Given the description of an element on the screen output the (x, y) to click on. 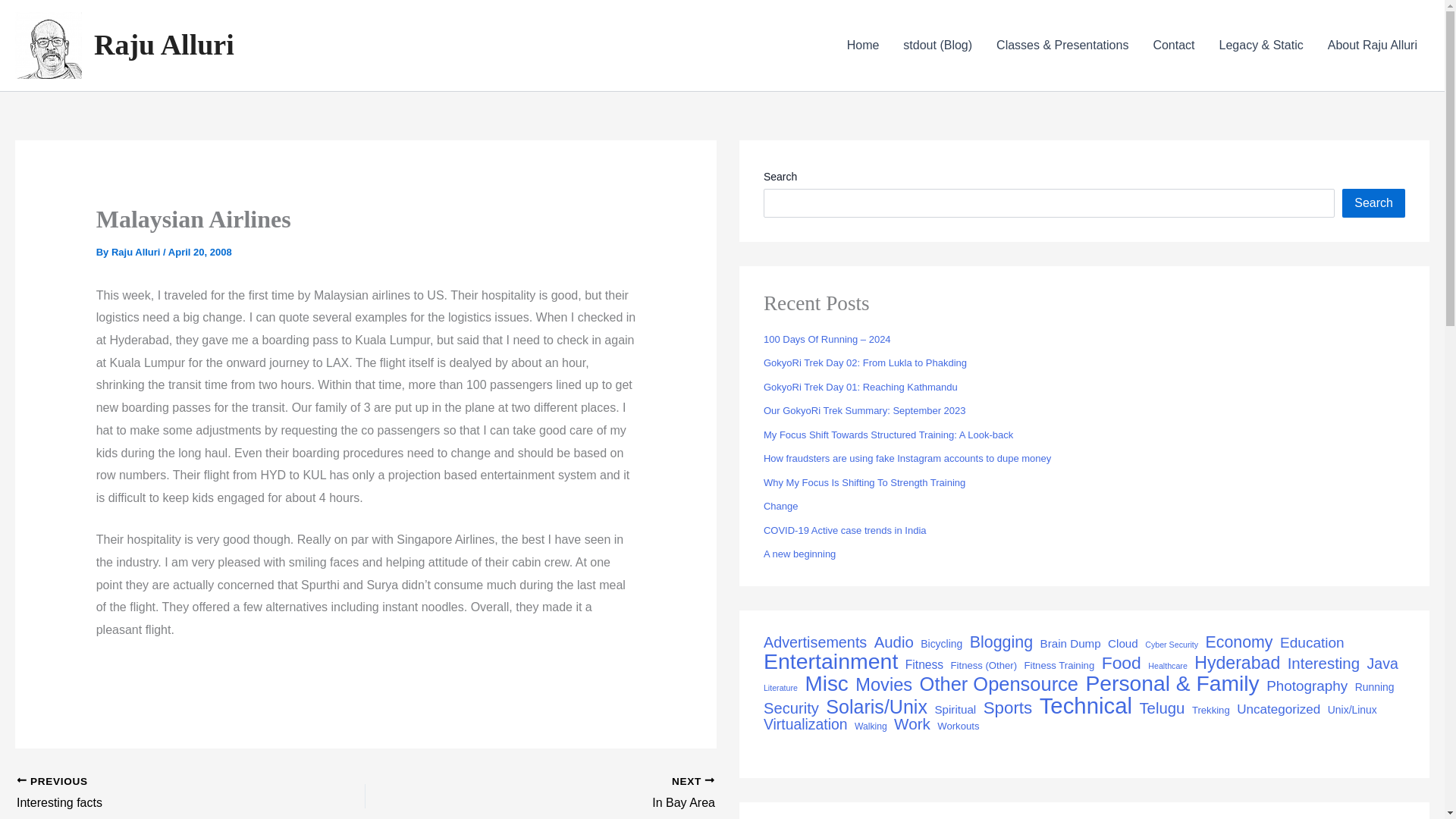
Home (862, 45)
GokyoRi Trek Day 01: Reaching Kathmandu (860, 387)
Our GokyoRi Trek Summary: September 2023 (573, 793)
My Focus Shift Towards Structured Training: A Look-back (864, 410)
Why My Focus Is Shifting To Strength Training (887, 434)
Raju Alluri (863, 482)
Contact (137, 251)
Search (1173, 45)
